Given the description of an element on the screen output the (x, y) to click on. 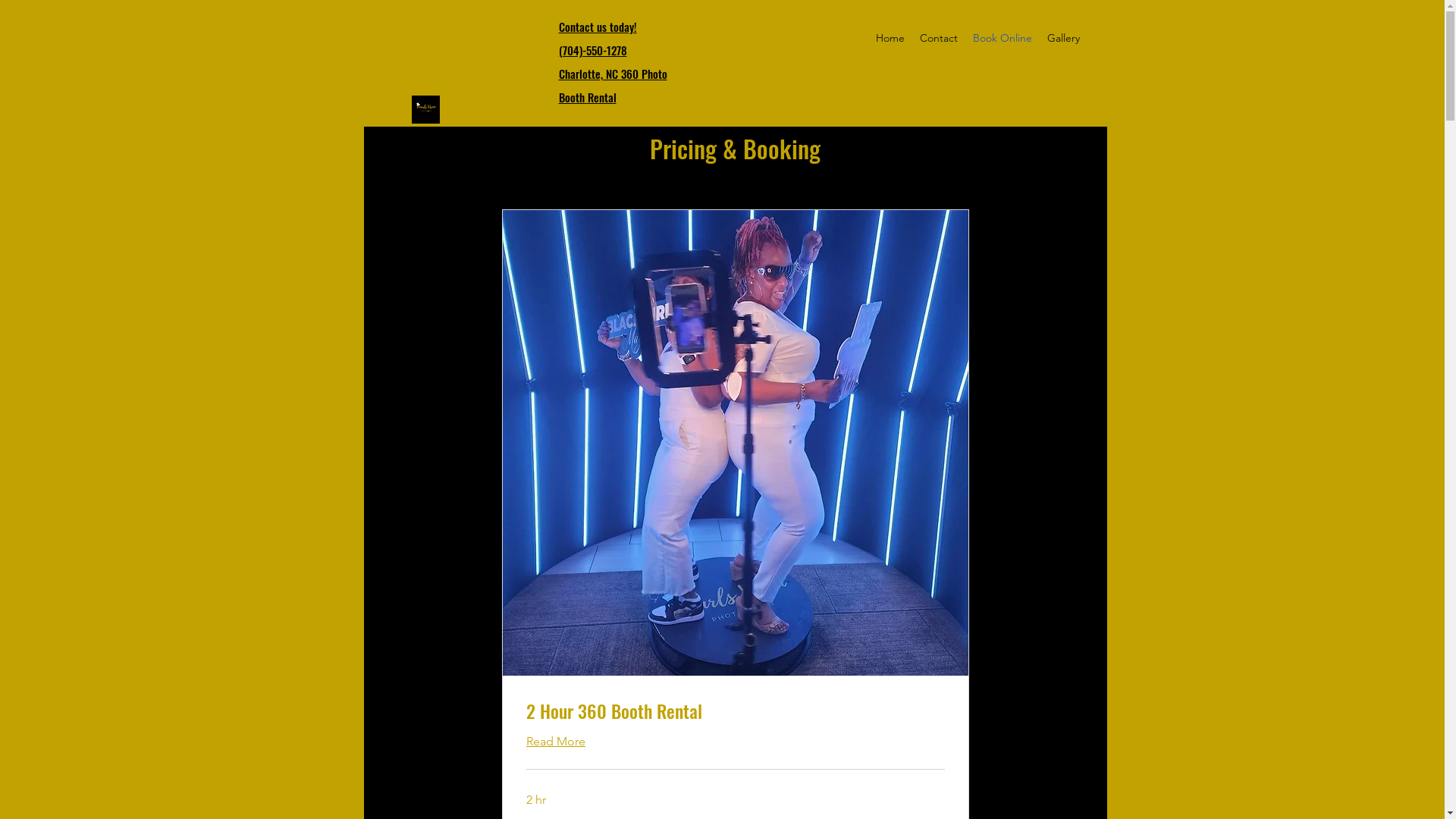
Book Online Element type: text (1002, 37)
Contact Element type: text (938, 37)
Home Element type: text (890, 37)
2 Hour 360 Booth Rental Element type: text (735, 711)
Gallery Element type: text (1063, 37)
Read More Element type: text (555, 741)
